Given the description of an element on the screen output the (x, y) to click on. 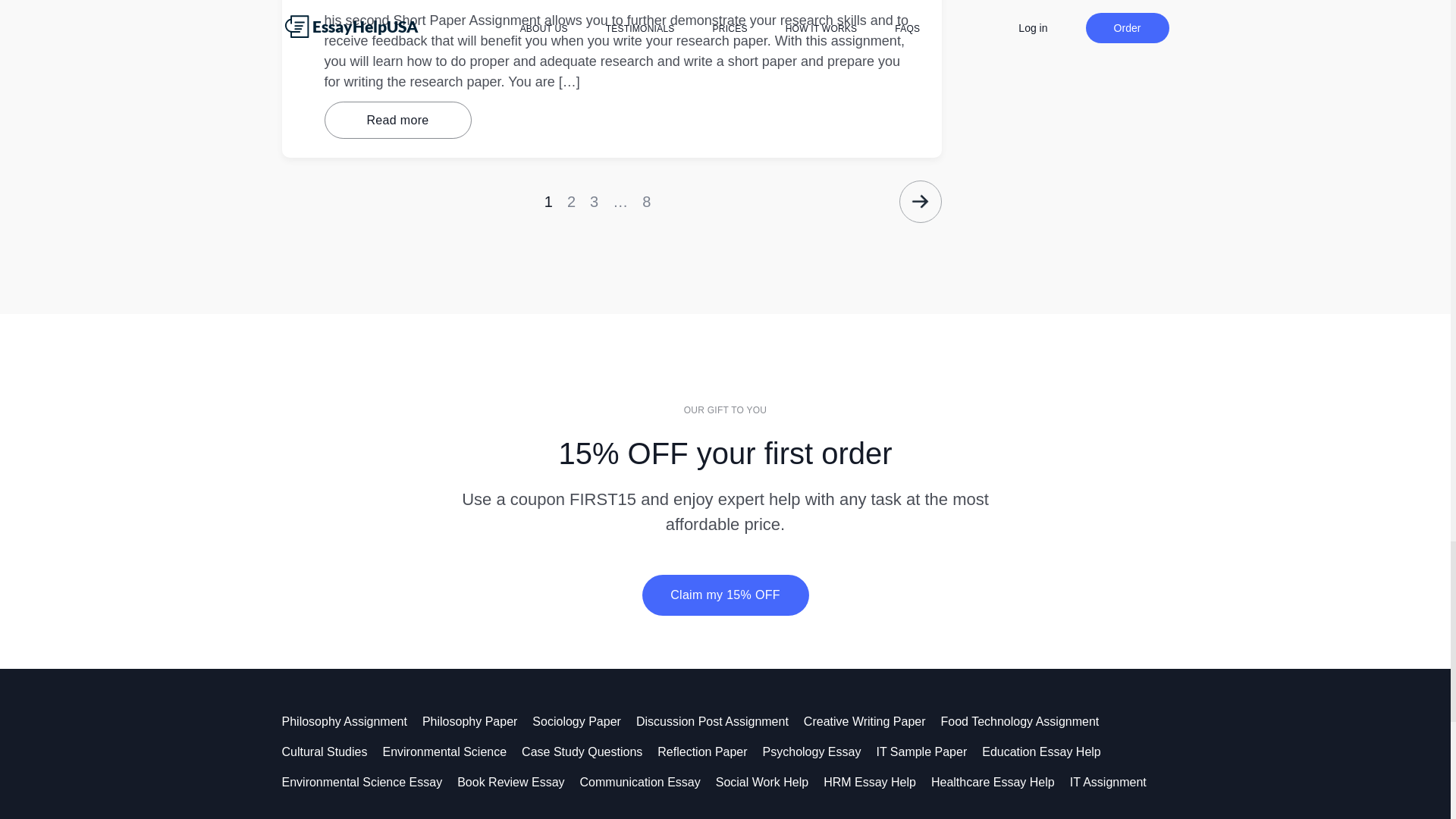
Read more (397, 119)
Philosophy Paper (477, 721)
Philosophy Assignment (352, 721)
